Given the description of an element on the screen output the (x, y) to click on. 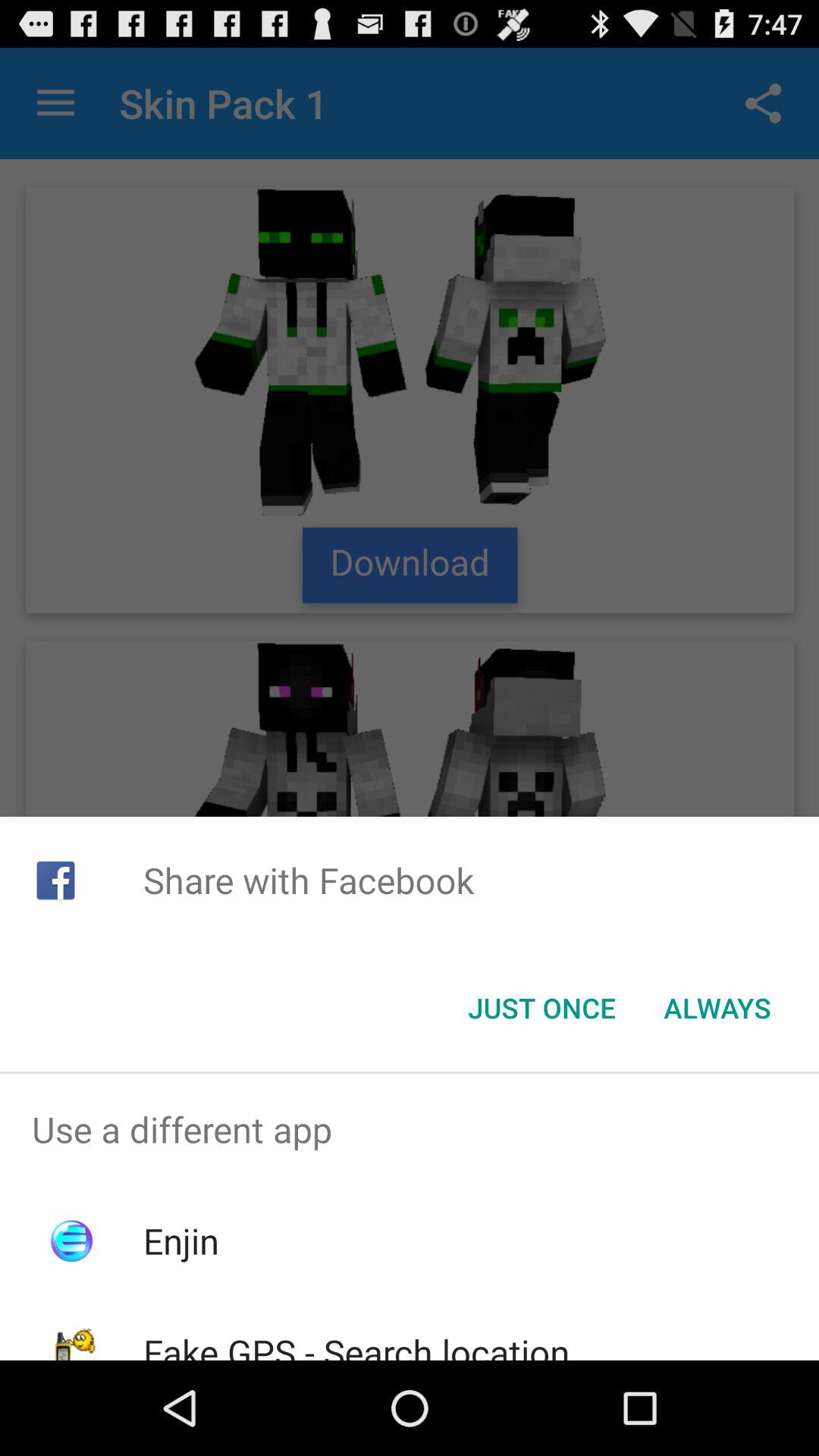
choose enjin (180, 1240)
